Given the description of an element on the screen output the (x, y) to click on. 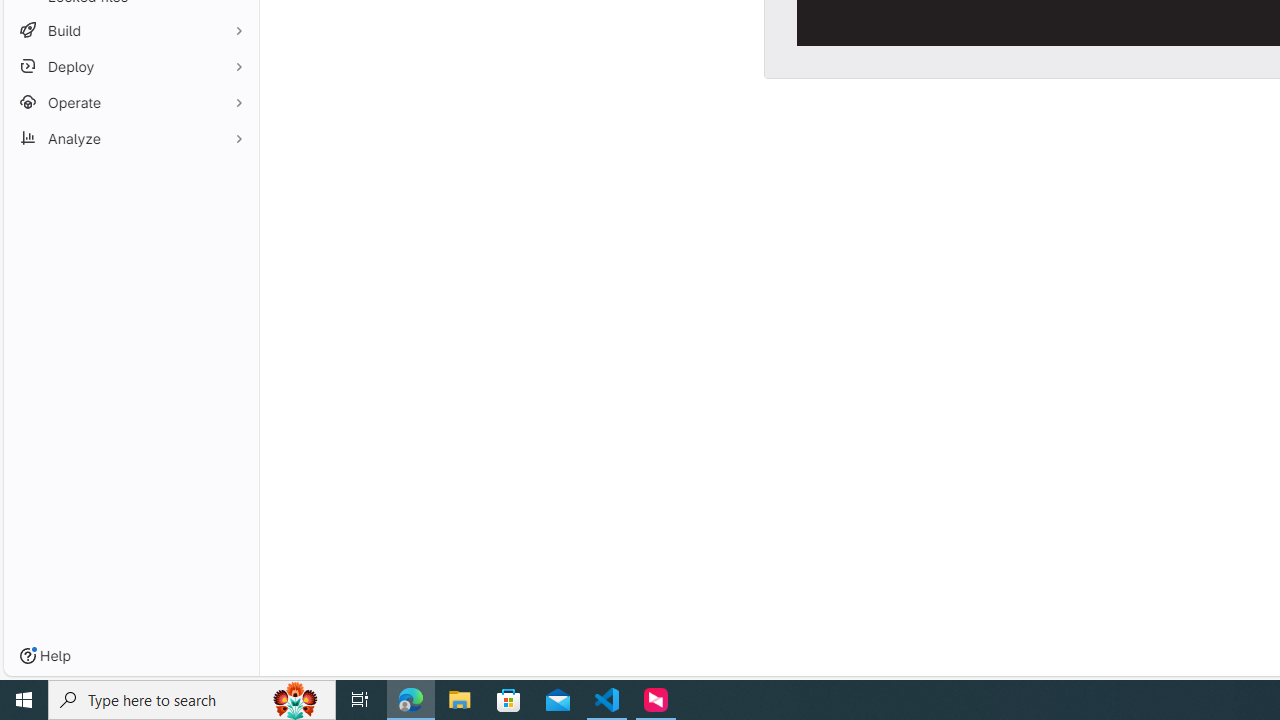
Analyze (130, 137)
Operate (130, 101)
Build (130, 29)
Build (130, 29)
Deploy (130, 65)
Analyze (130, 137)
Operate (130, 101)
Deploy (130, 65)
